Given the description of an element on the screen output the (x, y) to click on. 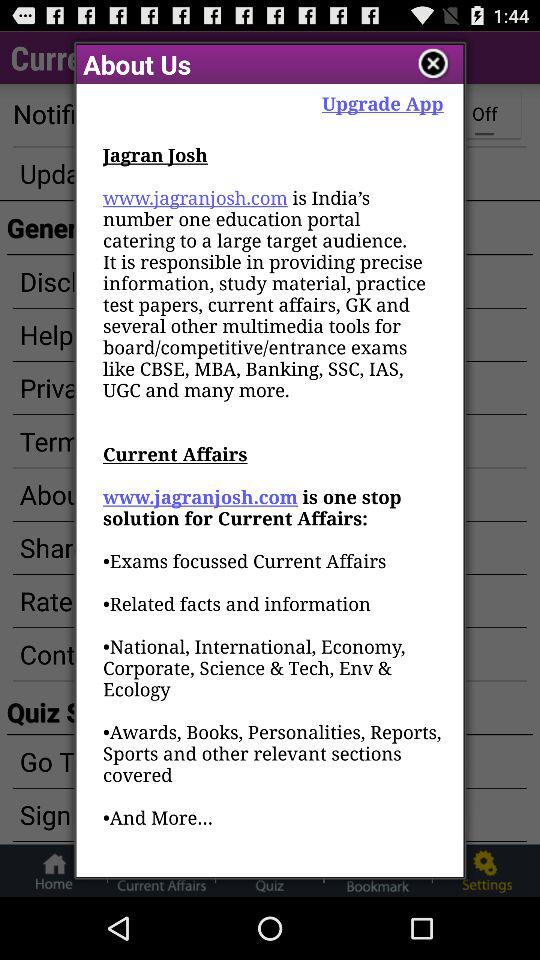
open the app above the jagran josh www item (382, 102)
